Given the description of an element on the screen output the (x, y) to click on. 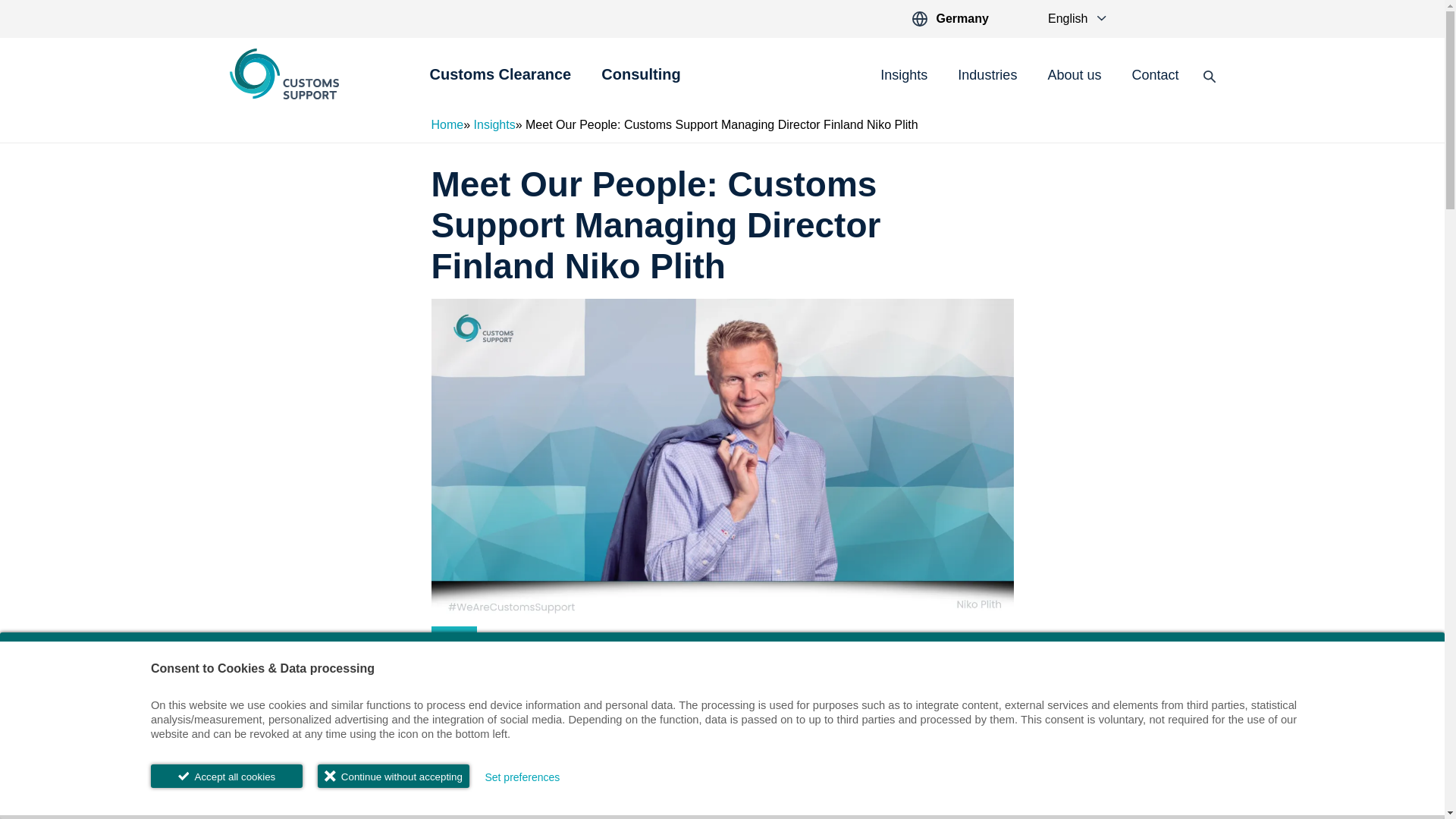
Customs Clearance (499, 83)
Industries (987, 75)
Accept all cookies (226, 775)
Continue without accepting (392, 775)
Customs Clearance (499, 83)
Industries (987, 75)
Insights (903, 75)
Insights (903, 75)
Set preferences (522, 776)
Consulting (640, 83)
Consulting (640, 83)
